Given the description of an element on the screen output the (x, y) to click on. 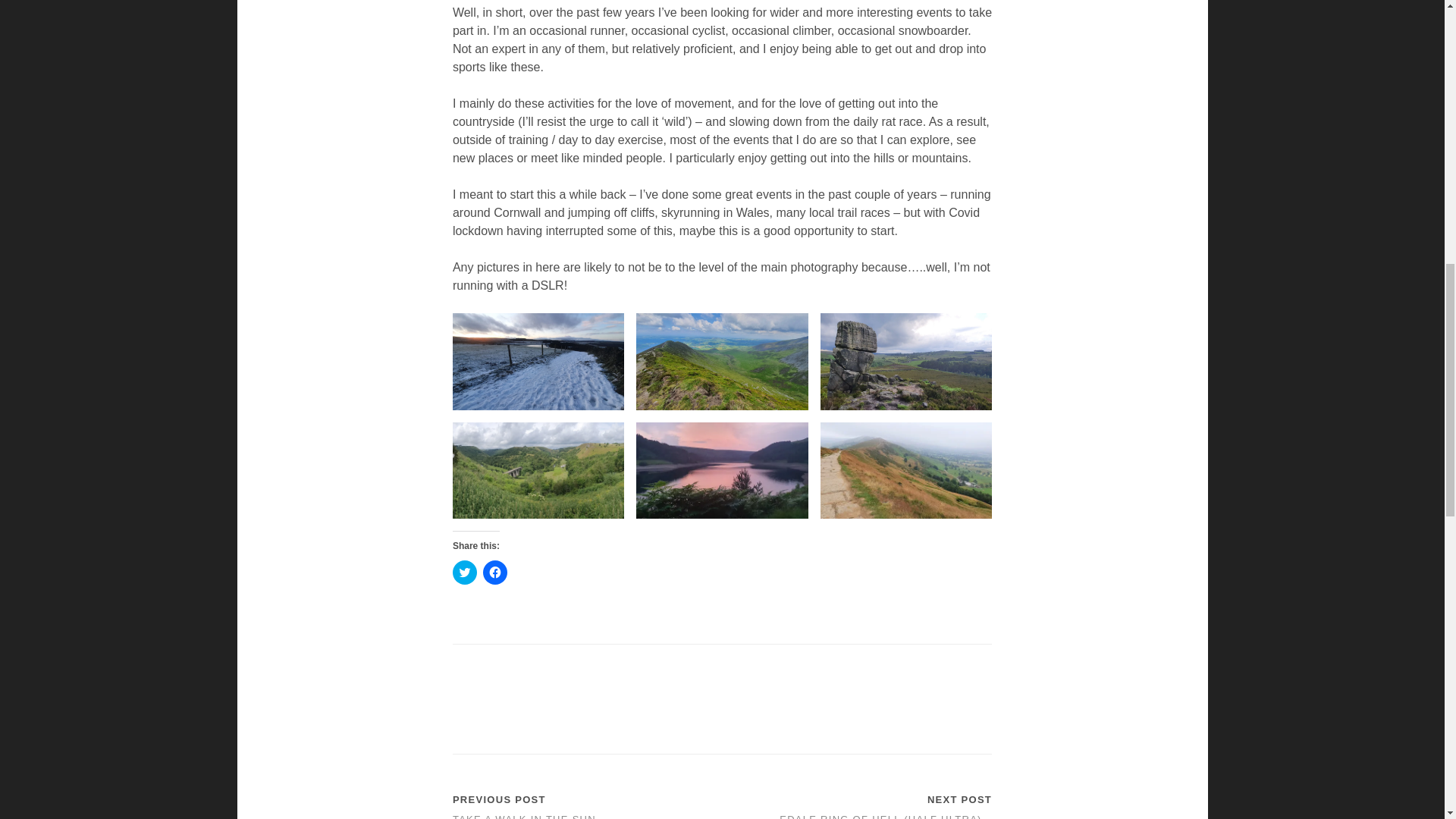
Click to share on Twitter (464, 572)
TAKE A WALK IN THE SUN (523, 816)
Click to share on Facebook (494, 572)
what is matched betting and how does it work (459, 707)
